Given the description of an element on the screen output the (x, y) to click on. 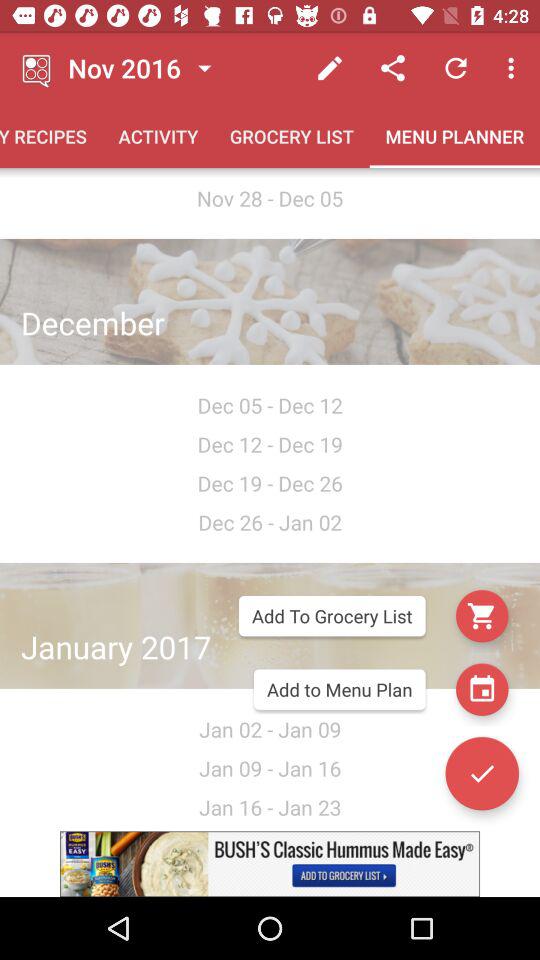
see your cart (482, 615)
